Given the description of an element on the screen output the (x, y) to click on. 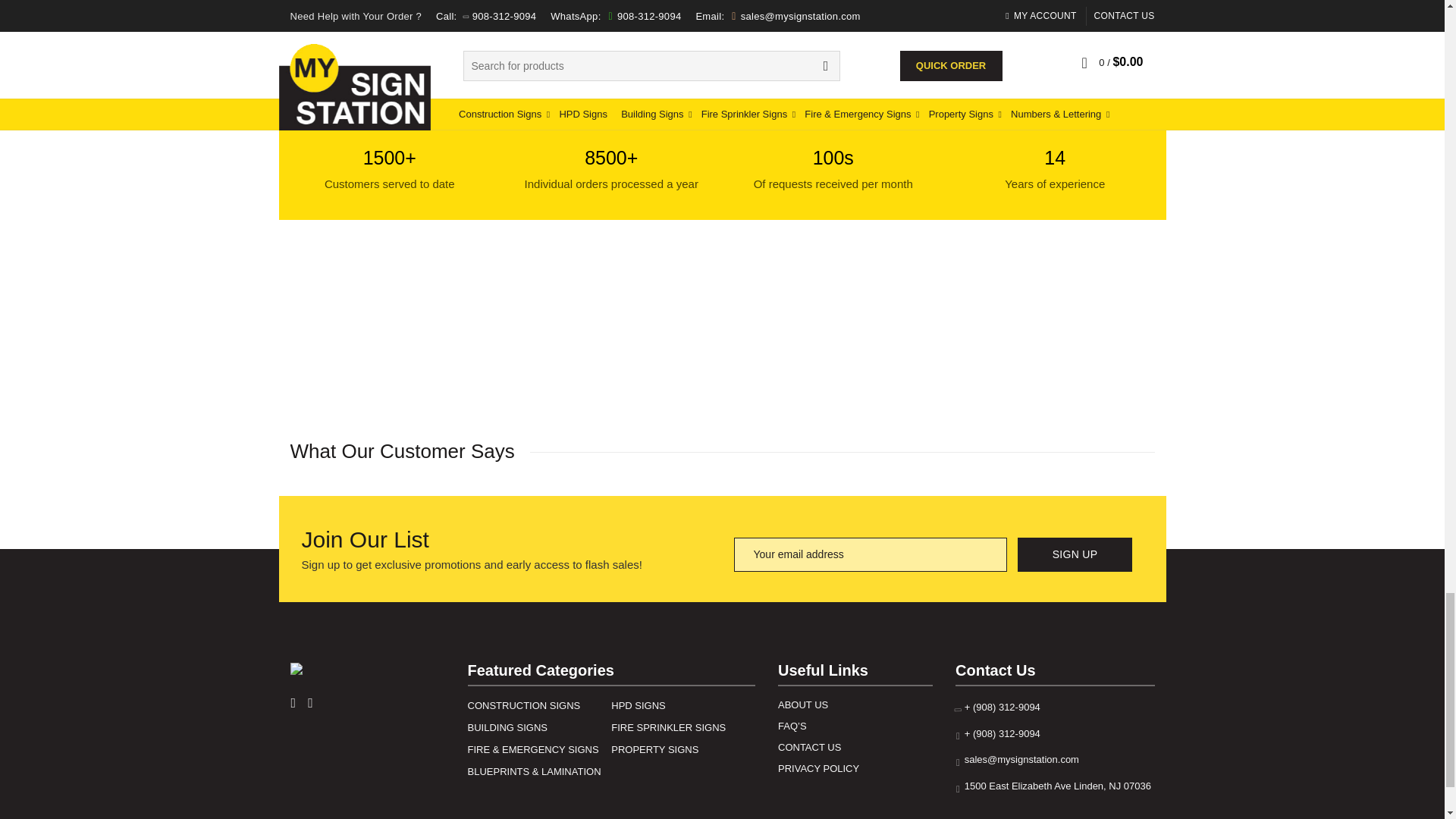
Sign up (1074, 554)
